Given the description of an element on the screen output the (x, y) to click on. 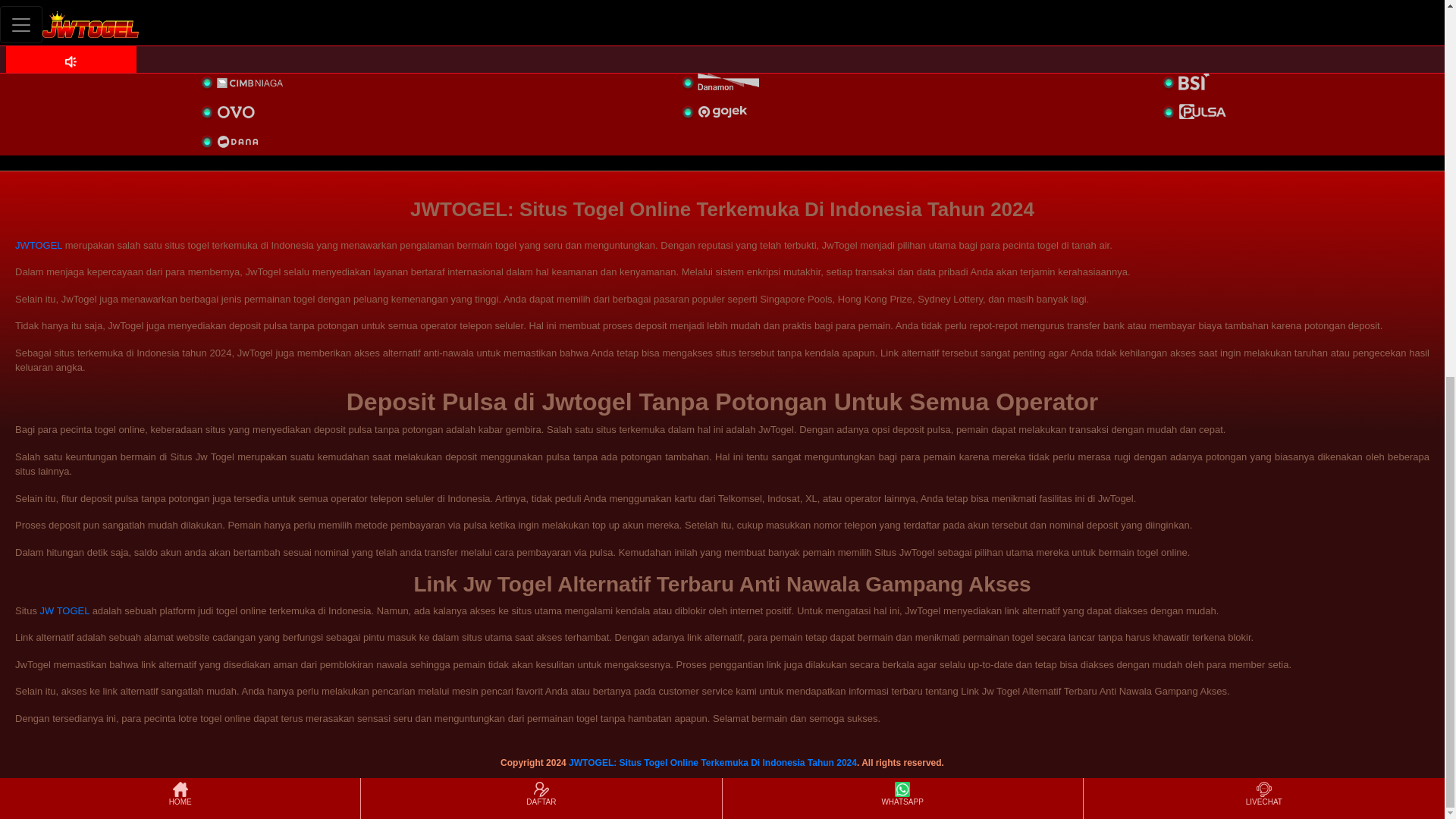
JW TOGEL (65, 610)
HOME (179, 103)
WHATSAPP (901, 103)
DAFTAR (540, 103)
JWTOGEL (38, 244)
LIVECHAT (1263, 103)
